Given the description of an element on the screen output the (x, y) to click on. 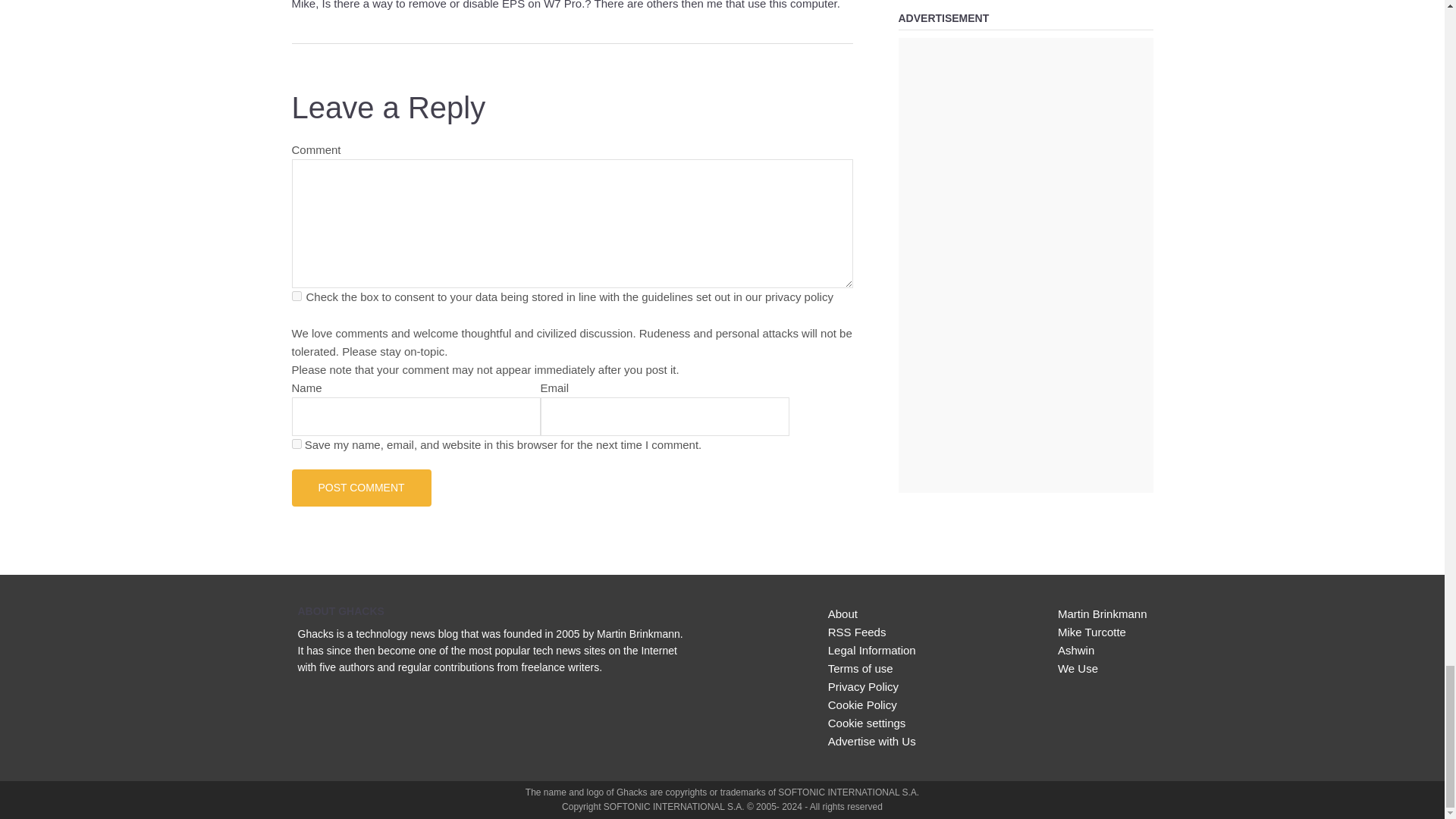
Post Comment (360, 487)
yes (296, 443)
privacy-key (296, 296)
